Given the description of an element on the screen output the (x, y) to click on. 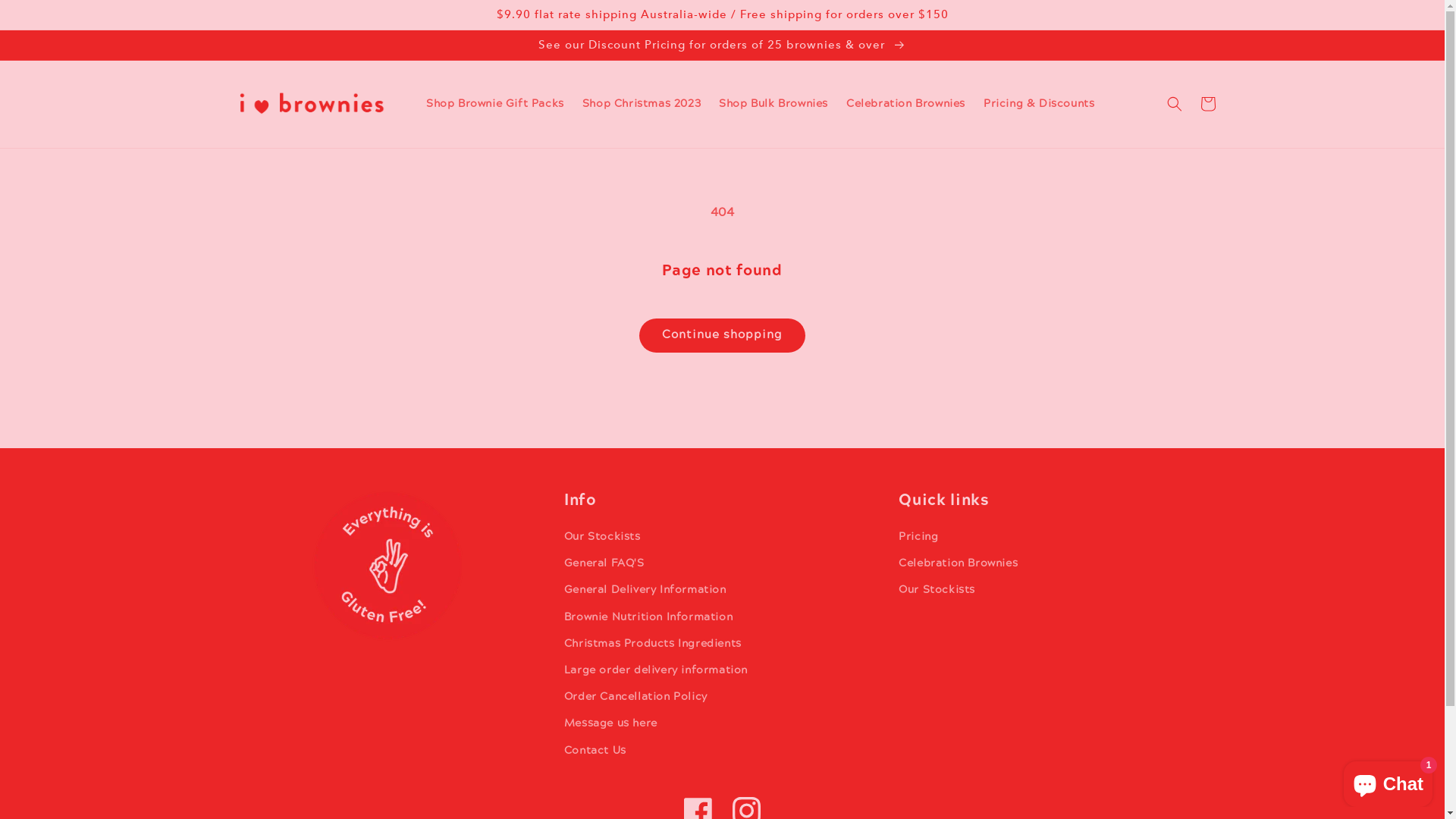
Cart Element type: text (1206, 103)
General FAQ'S Element type: text (604, 563)
Contact Us Element type: text (595, 750)
Pricing & Discounts Element type: text (1038, 103)
Christmas Products Ingredients Element type: text (652, 643)
Shop Bulk Brownies Element type: text (773, 103)
Our Stockists Element type: text (936, 590)
Pricing Element type: text (918, 538)
Order Cancellation Policy Element type: text (635, 697)
Shop Brownie Gift Packs Element type: text (495, 103)
Large order delivery information Element type: text (655, 670)
Continue shopping Element type: text (722, 335)
Brownie Nutrition Information Element type: text (648, 617)
Shopify online store chat Element type: hover (1388, 780)
Message us here Element type: text (610, 723)
Celebration Brownies Element type: text (957, 563)
General Delivery Information Element type: text (645, 590)
See our Discount Pricing for orders of 25 brownies & over Element type: text (722, 44)
Celebration Brownies Element type: text (905, 103)
Shop Christmas 2023 Element type: text (641, 103)
Our Stockists Element type: text (602, 538)
